Given the description of an element on the screen output the (x, y) to click on. 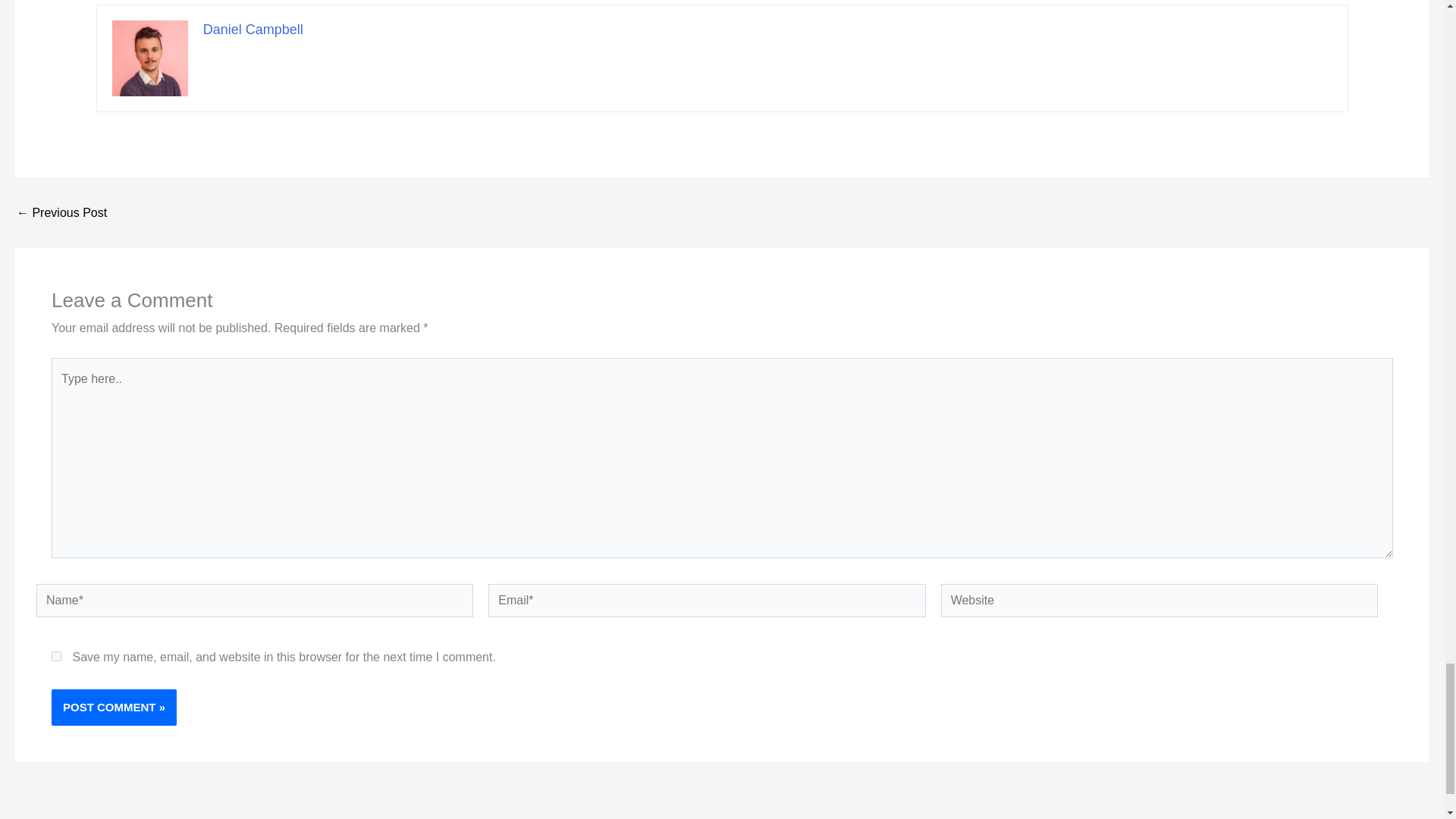
Easy Methods to Fix Windows Update Error 0x80d02002 (61, 213)
yes (55, 655)
Daniel Campbell (252, 29)
